Given the description of an element on the screen output the (x, y) to click on. 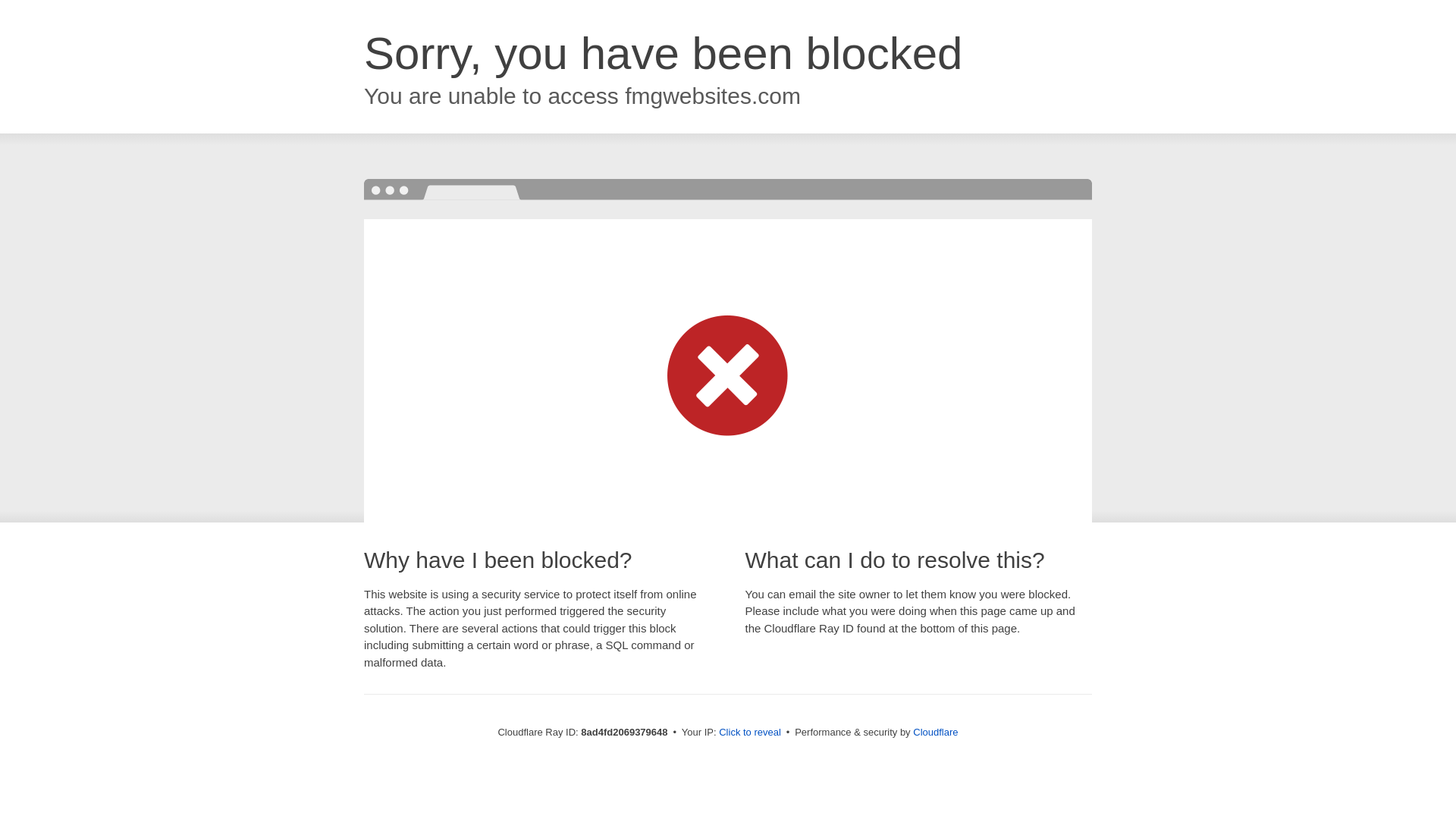
Click to reveal (749, 732)
Cloudflare (935, 731)
